Given the description of an element on the screen output the (x, y) to click on. 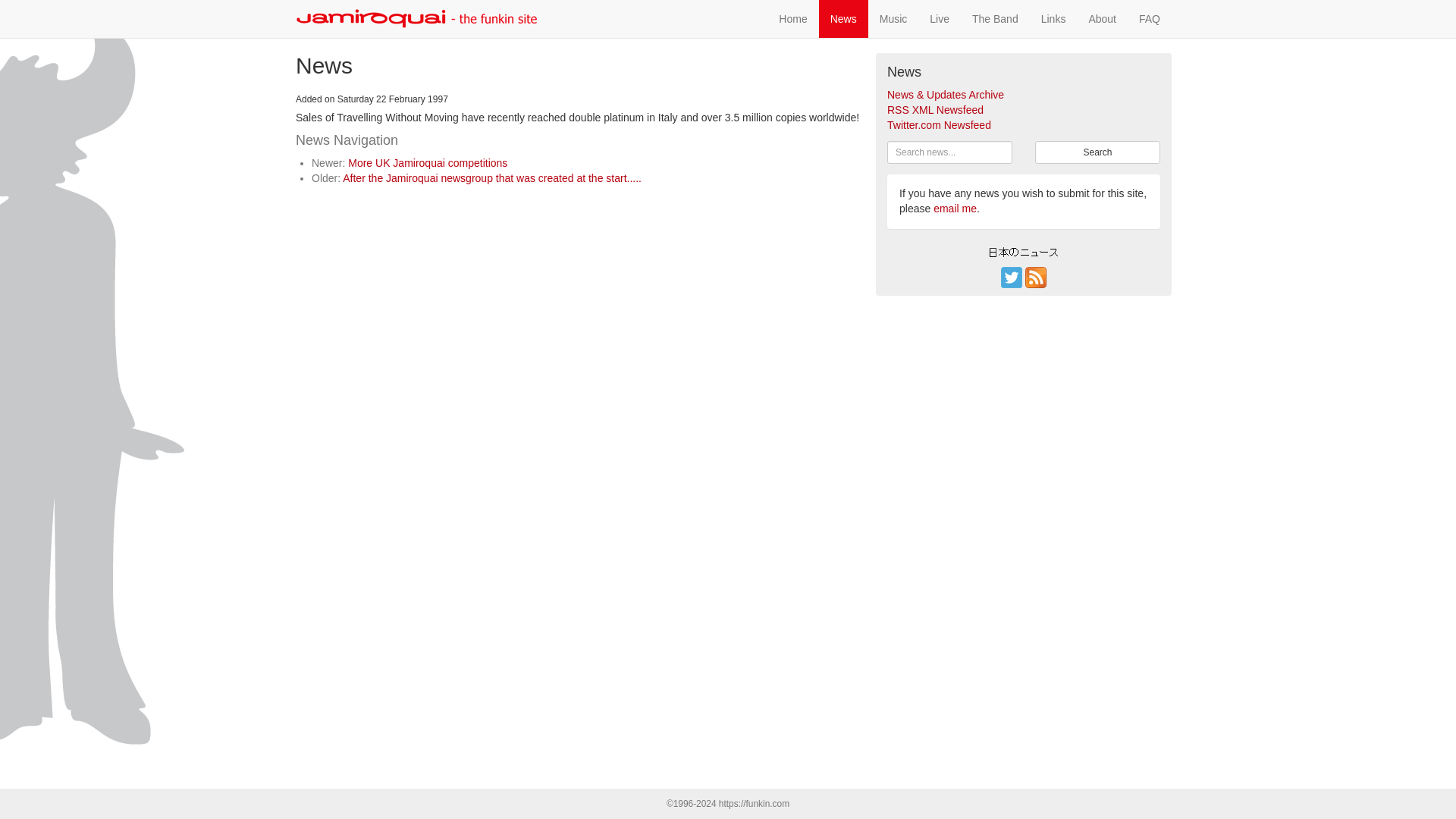
News (842, 18)
About (1101, 18)
Home (792, 18)
RSS XML Newsfeed (935, 110)
Other sites of interest (1053, 18)
email me (954, 208)
Twitter.com Newsfeed (938, 124)
Frequently Asked Questions about Jamiroquai (1149, 18)
The Band (994, 18)
Music (892, 18)
FAQ (1149, 18)
Live (939, 18)
Discography, videography, lyrics, and more (892, 18)
Jamiroquai - The Funkin Site (416, 19)
Tour dates (939, 18)
